Given the description of an element on the screen output the (x, y) to click on. 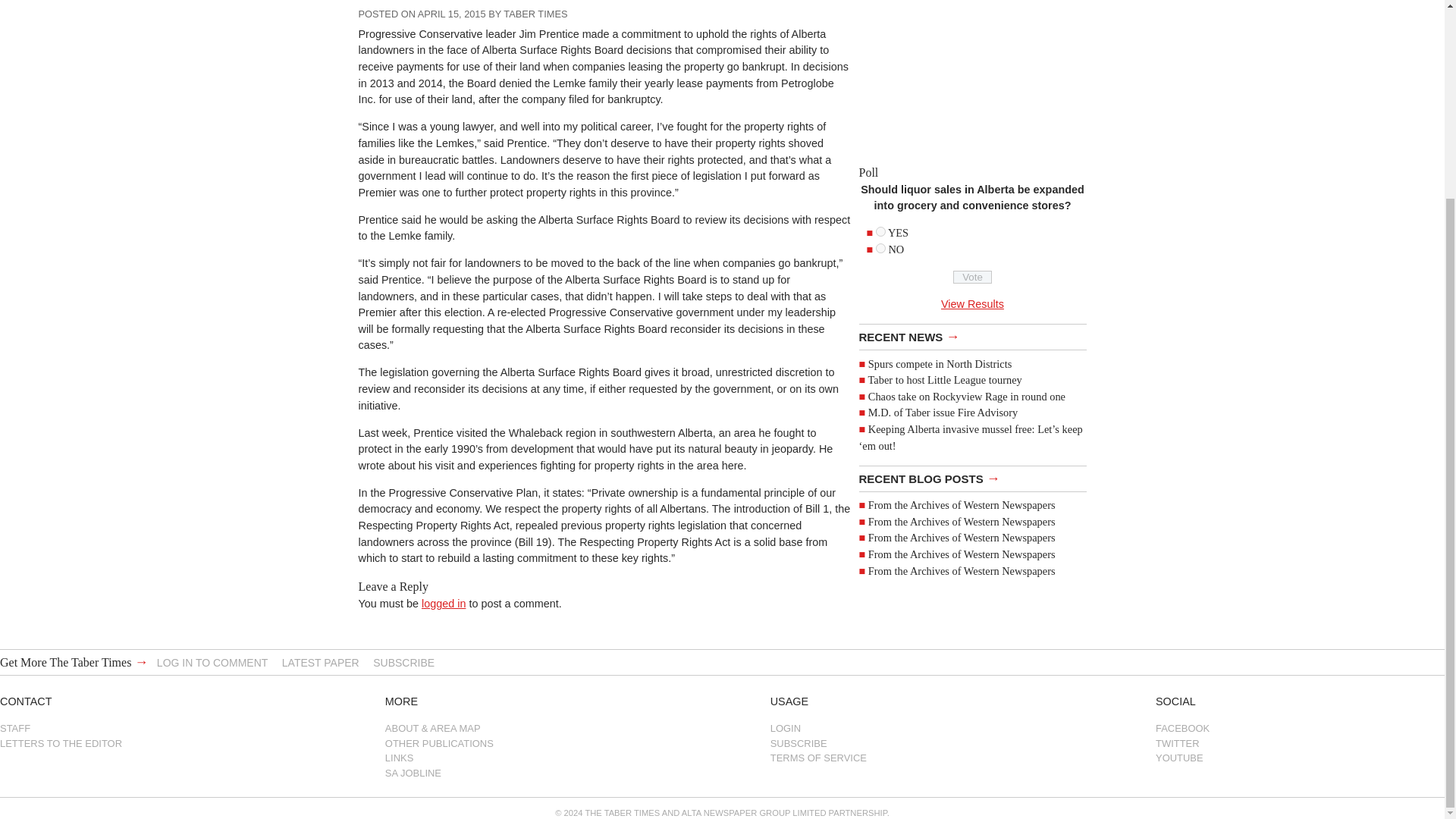
Chaos take on Rockyview Rage in round one (966, 396)
From the Archives of Western Newspapers (961, 553)
View Results Of This Poll (972, 304)
M.D. of Taber issue Fire Advisory (942, 412)
528 (880, 248)
527 (880, 231)
   Vote    (972, 277)
Taber to host Little League tourney (944, 379)
From the Archives of Western Newspapers (961, 570)
From the Archives of Western Newspapers (961, 521)
From the Archives of Western Newspapers (961, 537)
From the Archives of Western Newspapers (961, 504)
Spurs compete in North Districts (939, 363)
View Results (972, 304)
